Given the description of an element on the screen output the (x, y) to click on. 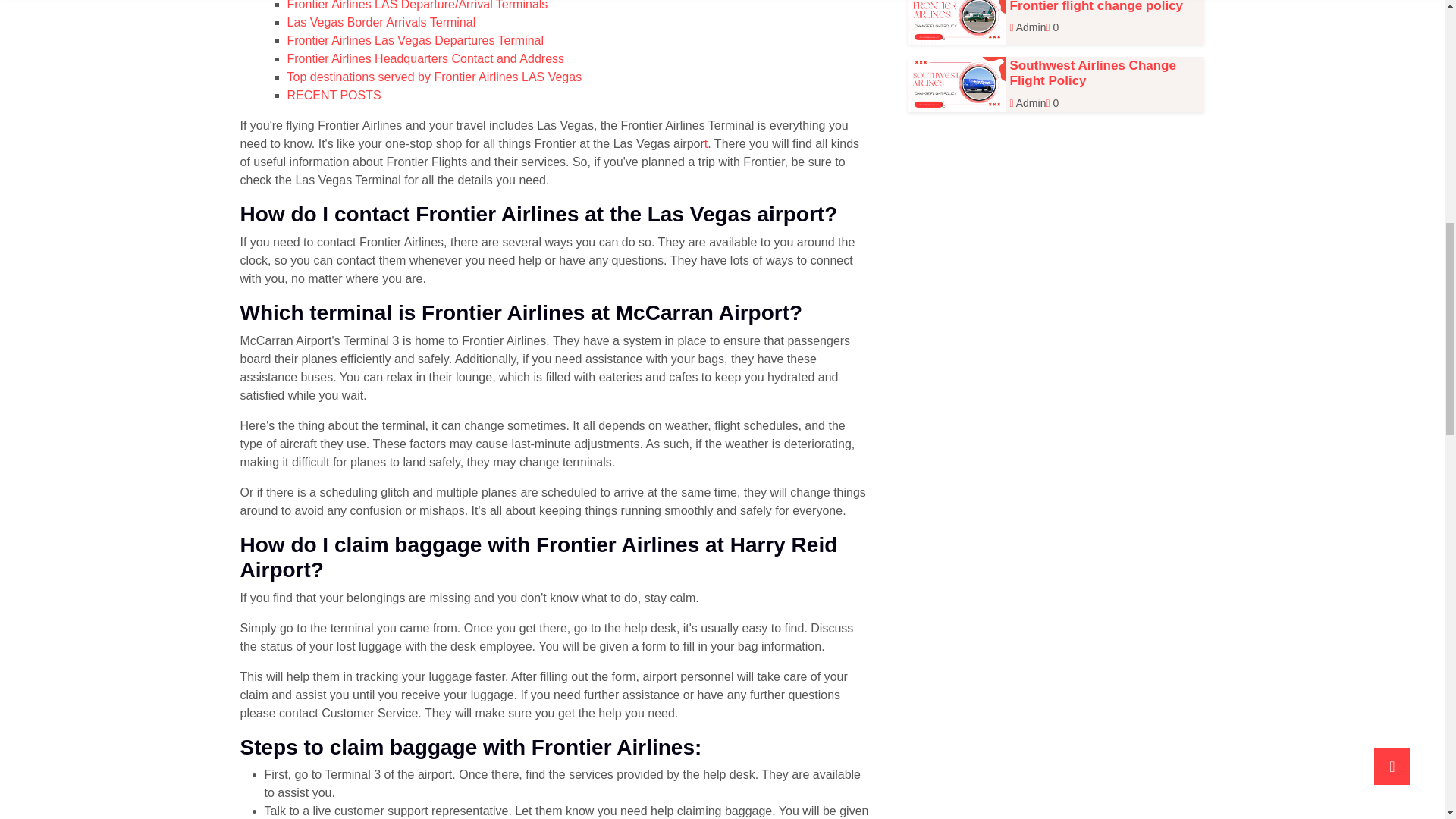
Frontier flight change policy (1096, 6)
Frontier Airlines Headquarters Contact and Address (425, 58)
Southwest Airlines Change Flight Policy (1093, 72)
Frontier Airlines Las Vegas Departures Terminal (414, 40)
Las Vegas Border Arrivals Terminal (381, 21)
RECENT POSTS (333, 94)
Top destinations served by Frontier Airlines LAS Vegas (433, 76)
